Given the description of an element on the screen output the (x, y) to click on. 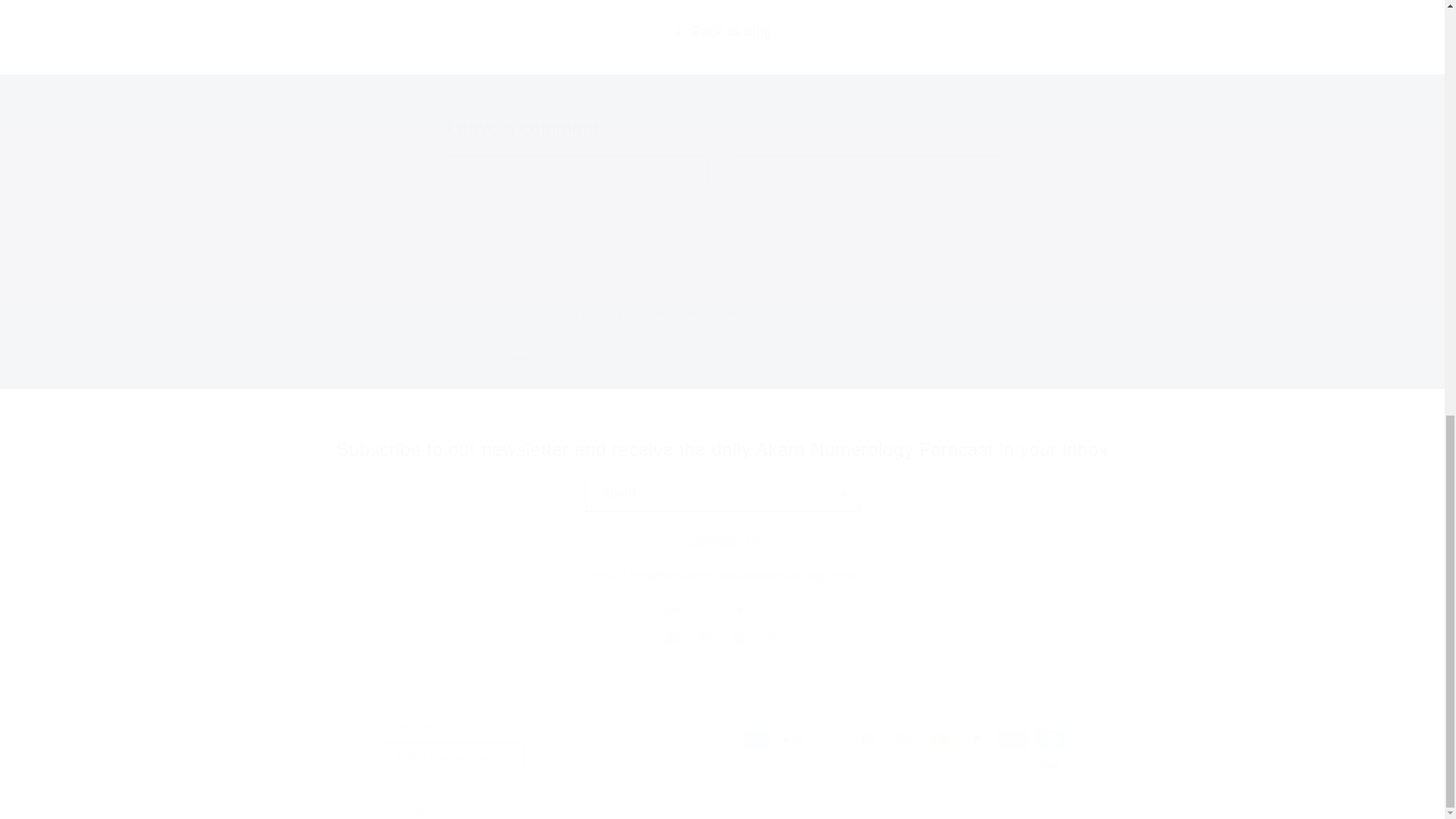
Post comment (510, 358)
Email (722, 493)
